Given the description of an element on the screen output the (x, y) to click on. 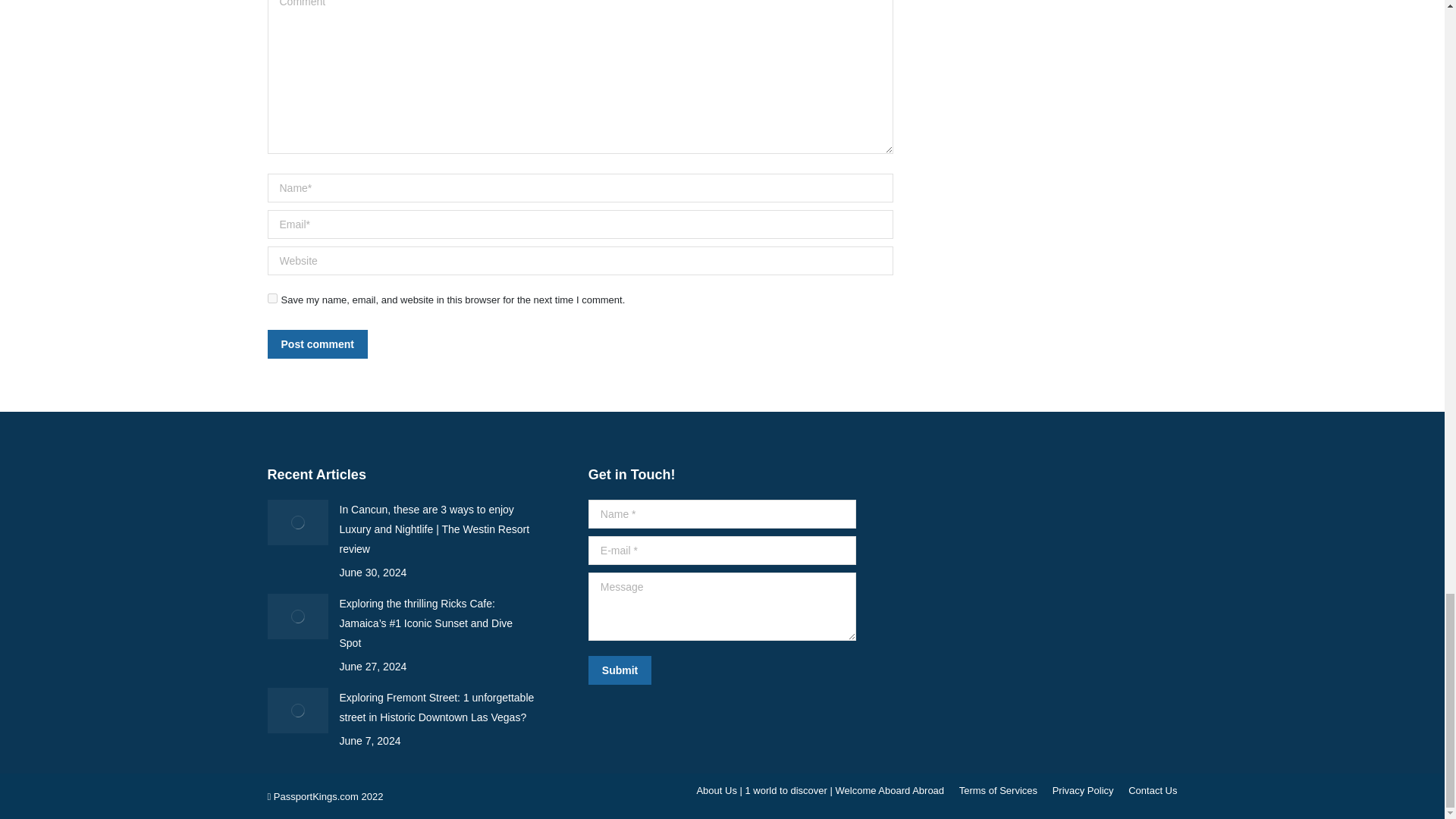
submit (691, 671)
yes (271, 298)
